Given the description of an element on the screen output the (x, y) to click on. 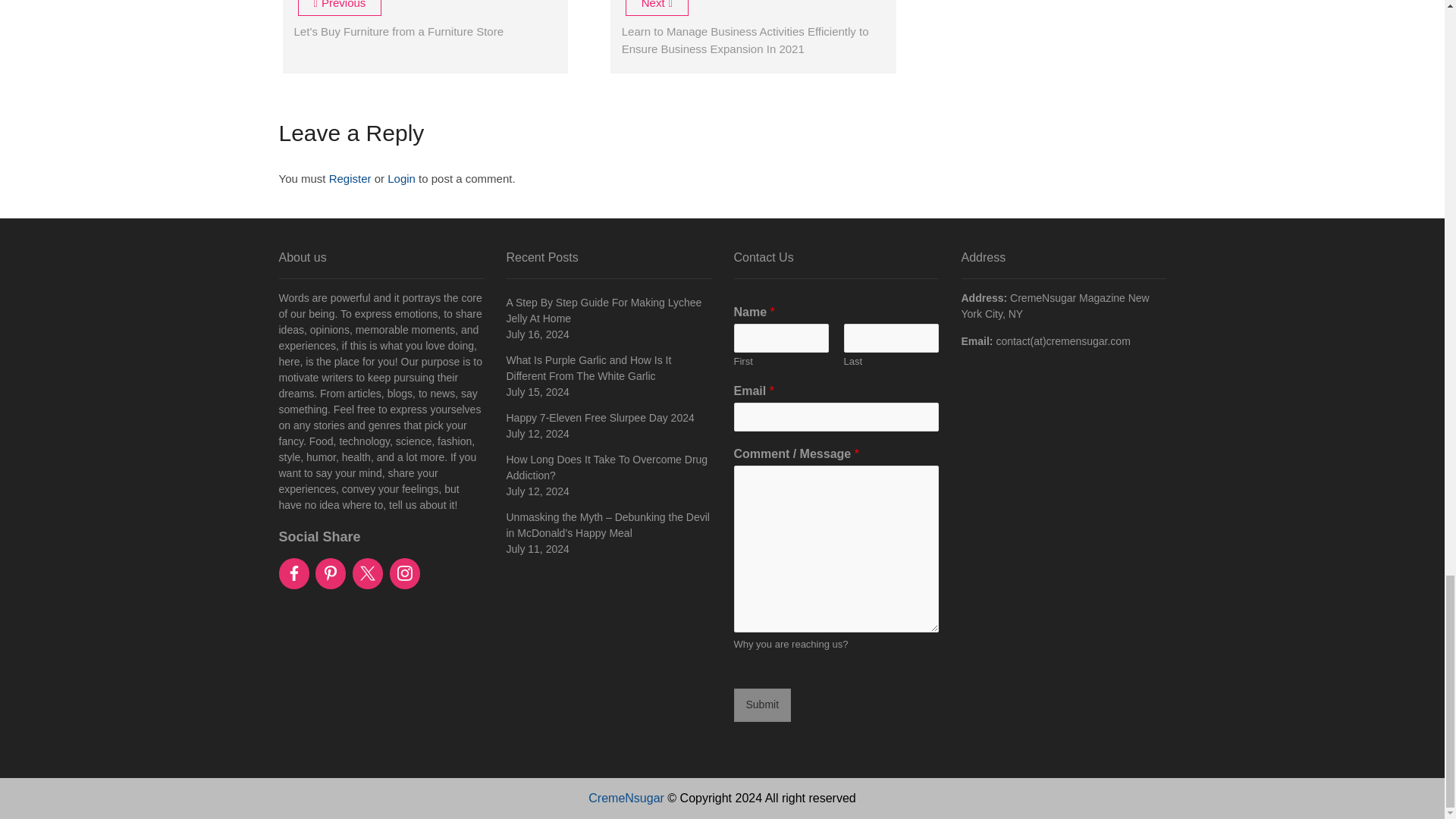
CremeNsugar (625, 797)
